Given the description of an element on the screen output the (x, y) to click on. 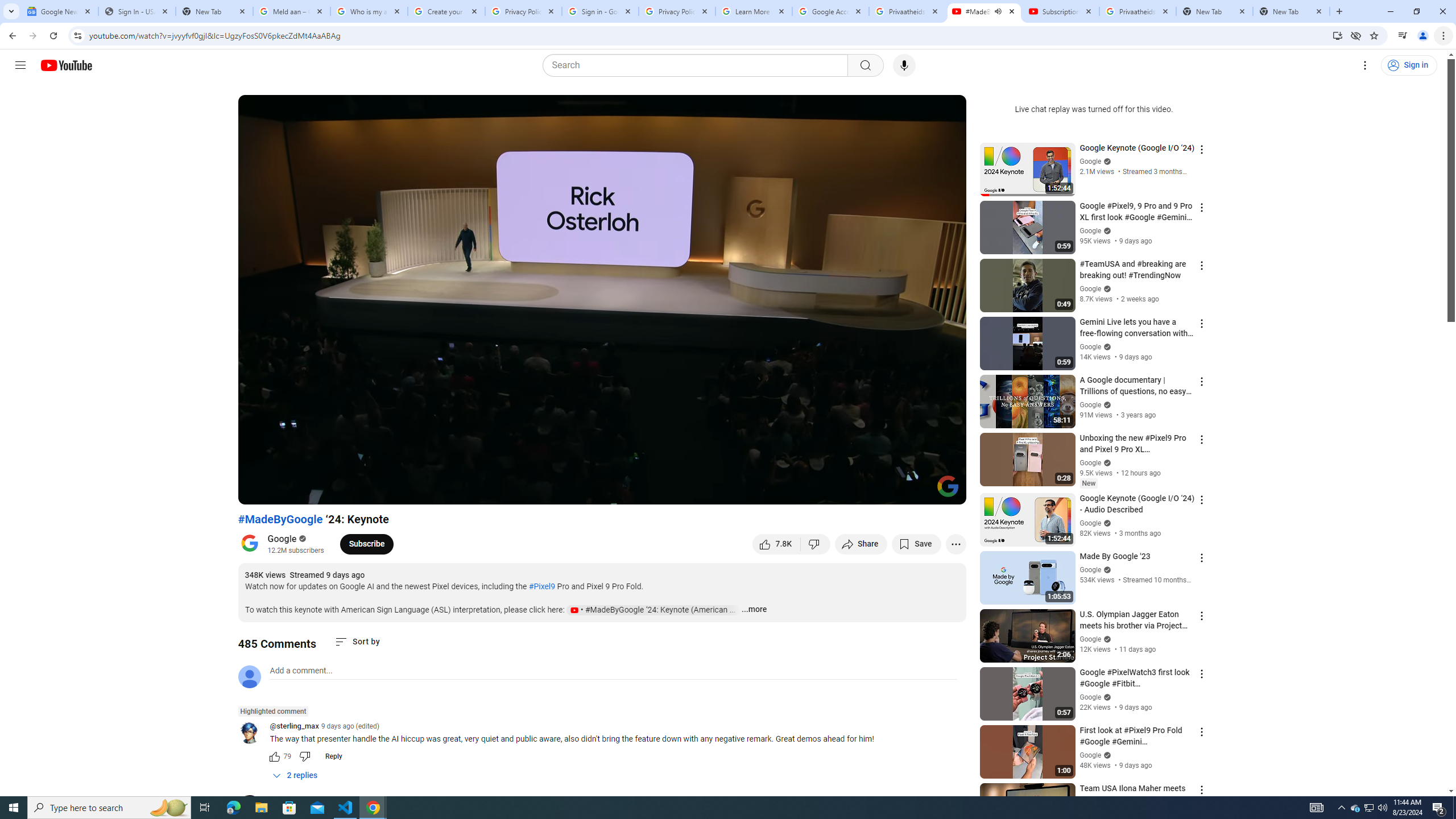
Google News (59, 11)
New Tab (1291, 11)
Share (861, 543)
Install YouTube (1336, 35)
More actions (955, 543)
Create your Google Account (446, 11)
Sign In - USA TODAY (136, 11)
Search (865, 65)
